Given the description of an element on the screen output the (x, y) to click on. 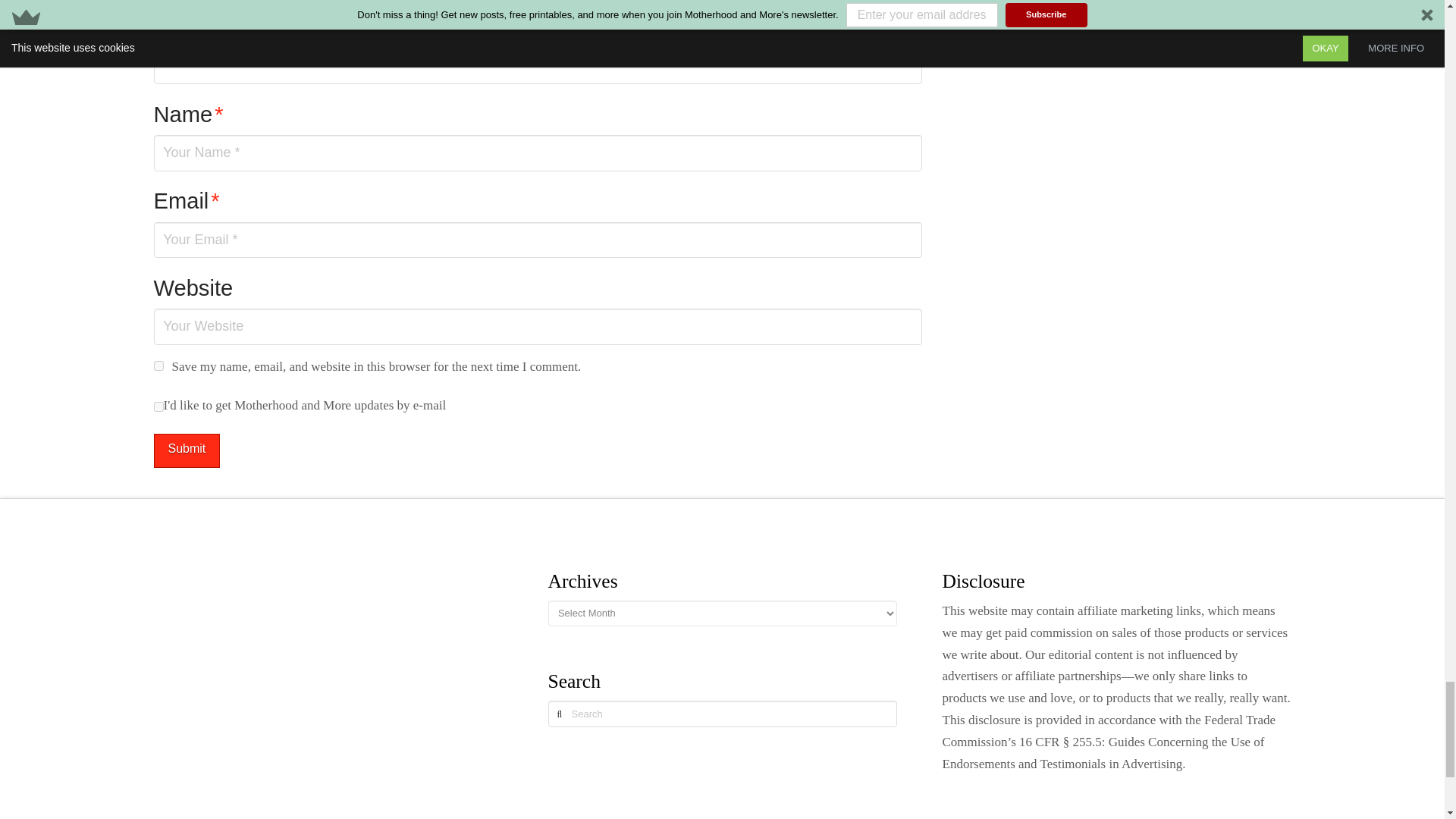
yes (157, 366)
Submit (185, 450)
1 (157, 406)
